Given the description of an element on the screen output the (x, y) to click on. 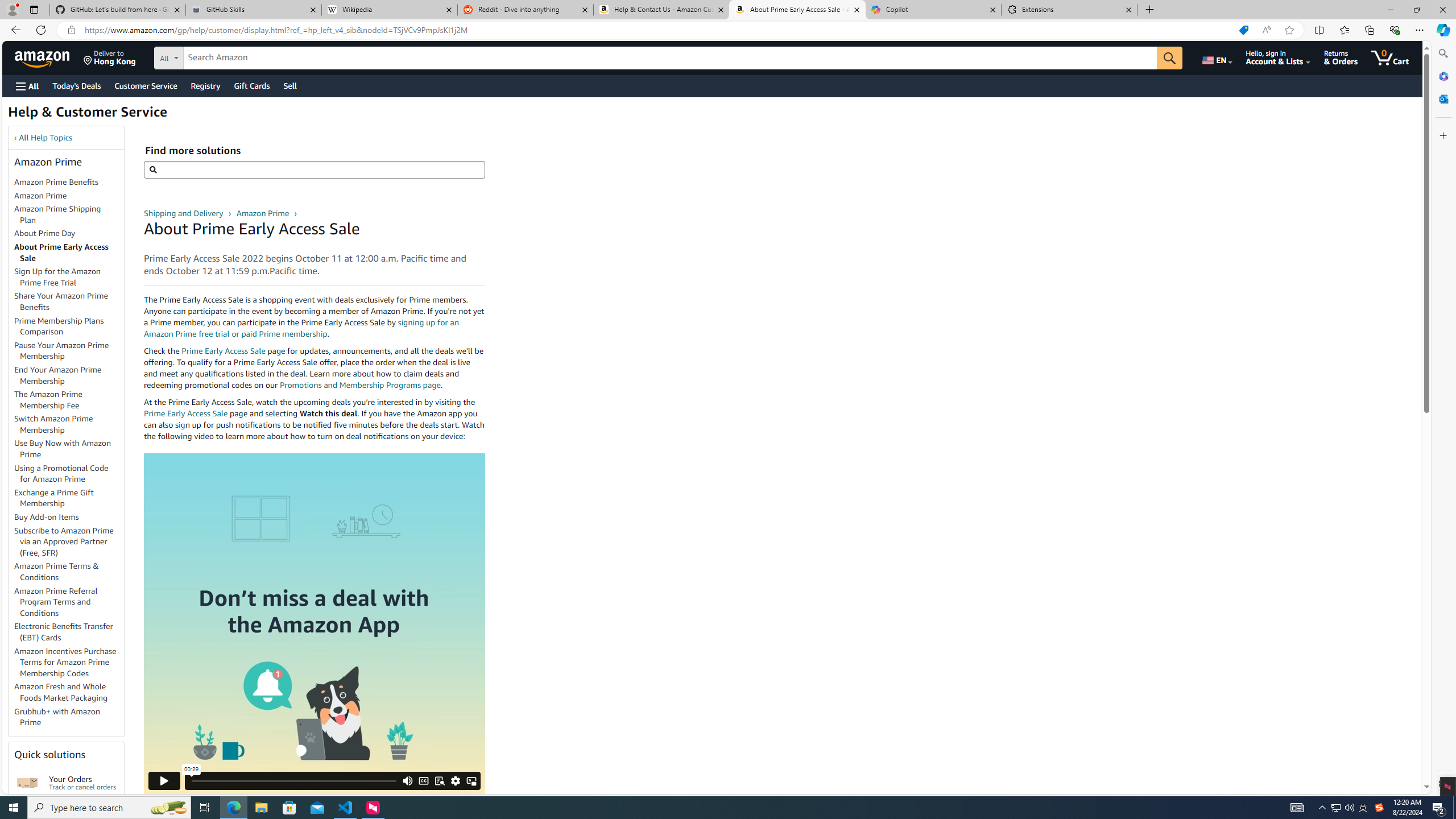
Amazon Prime Shipping Plan (68, 214)
Amazon Prime Benefits (56, 181)
About Prime Day (68, 233)
Gift Cards (251, 85)
Prime Early Access Sale (186, 412)
Prime Membership Plans Comparison (58, 326)
GitHub Skills (253, 9)
Picture-in-Picture (471, 780)
Registry (205, 85)
Amazon Prime Terms & Conditions (68, 572)
Electronic Benefits Transfer (EBT) Cards (68, 631)
